Given the description of an element on the screen output the (x, y) to click on. 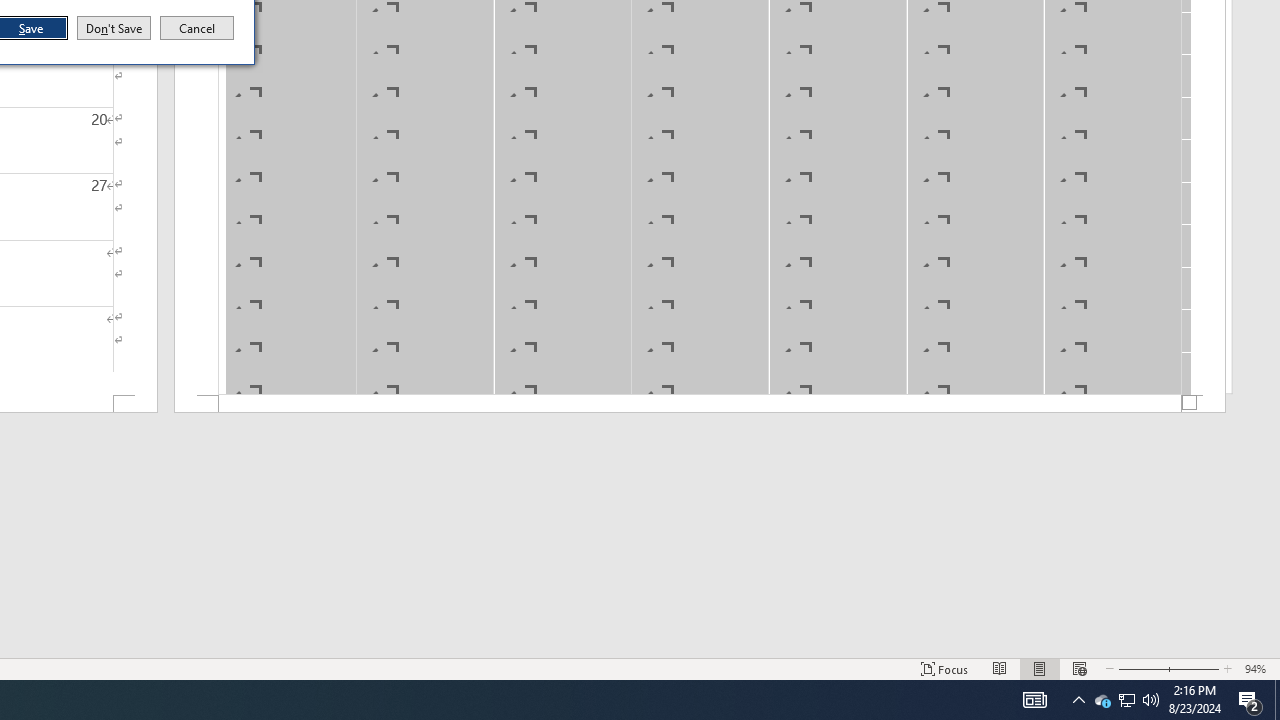
Footer -Section 1- (700, 404)
Notification Chevron (1078, 699)
Action Center, 2 new notifications (1250, 699)
Q2790: 100% (1151, 699)
Don't Save (113, 27)
AutomationID: 4105 (1034, 699)
Show desktop (1277, 699)
